Given the description of an element on the screen output the (x, y) to click on. 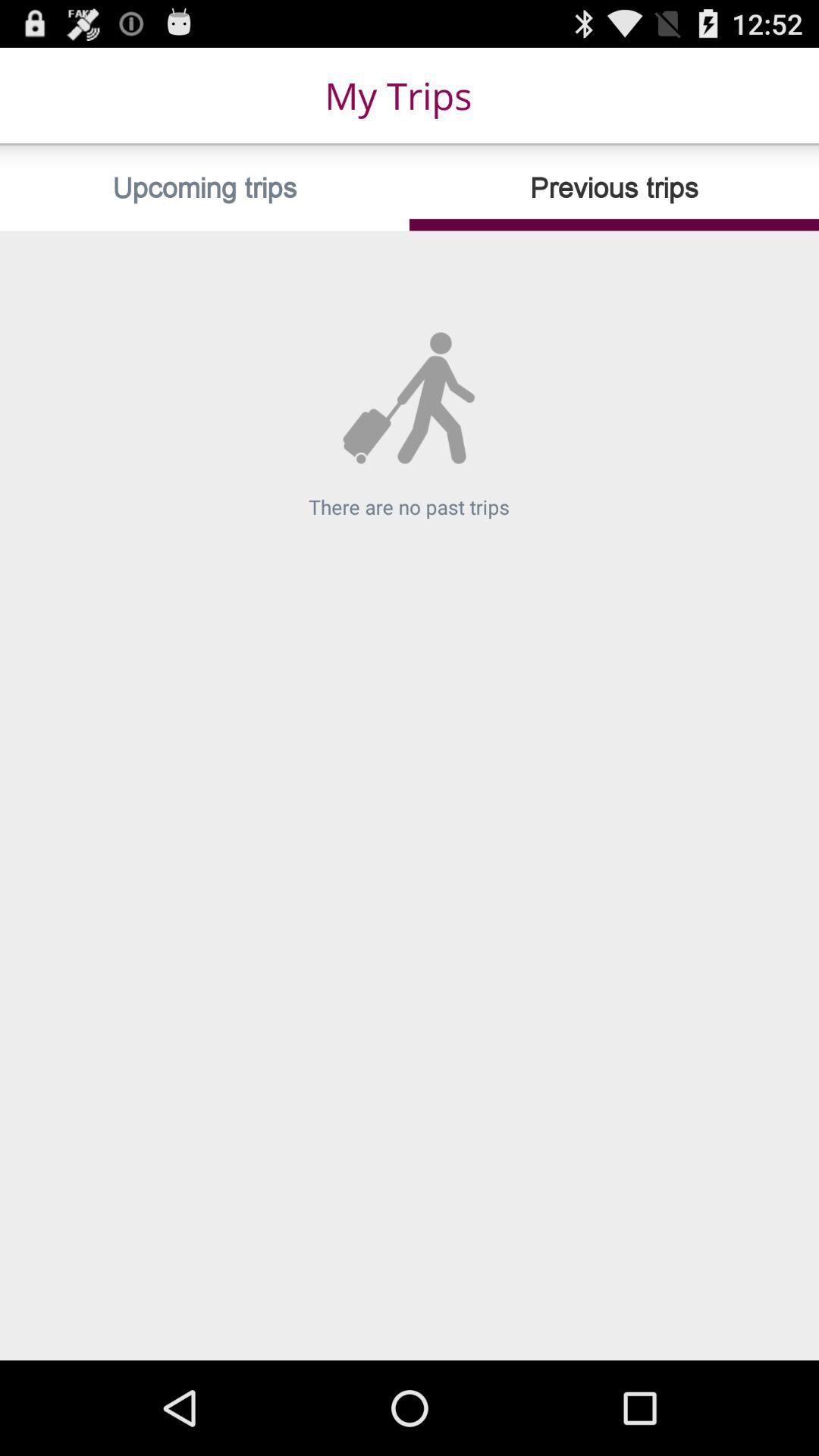
scroll to the previous trips item (614, 187)
